Given the description of an element on the screen output the (x, y) to click on. 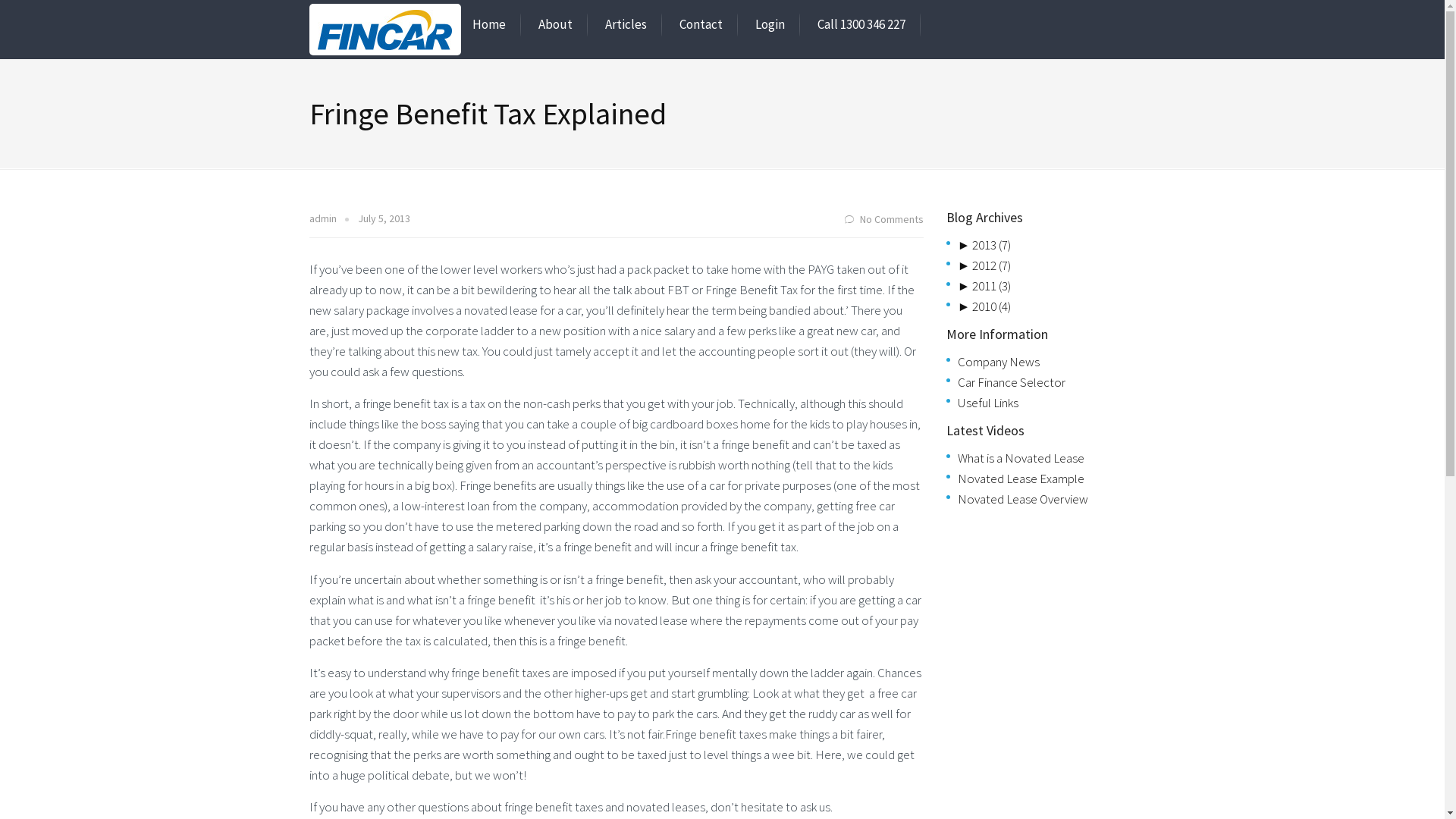
Articles Element type: text (625, 24)
Company News Element type: text (997, 361)
2012 (7) Element type: text (991, 265)
Home Element type: text (488, 24)
Novated Lease Overview Element type: text (1022, 498)
2010 (4) Element type: text (991, 306)
2013 (7) Element type: text (991, 244)
Call 1300 346 227 Element type: text (861, 24)
Useful Links Element type: text (987, 402)
Contact Element type: text (700, 24)
Login Element type: text (769, 24)
What is a Novated Lease Element type: text (1020, 457)
Car Finance Selector Element type: text (1010, 381)
2011 (3) Element type: text (991, 285)
Novated Lease Example Element type: text (1020, 478)
About Element type: text (555, 24)
